Given the description of an element on the screen output the (x, y) to click on. 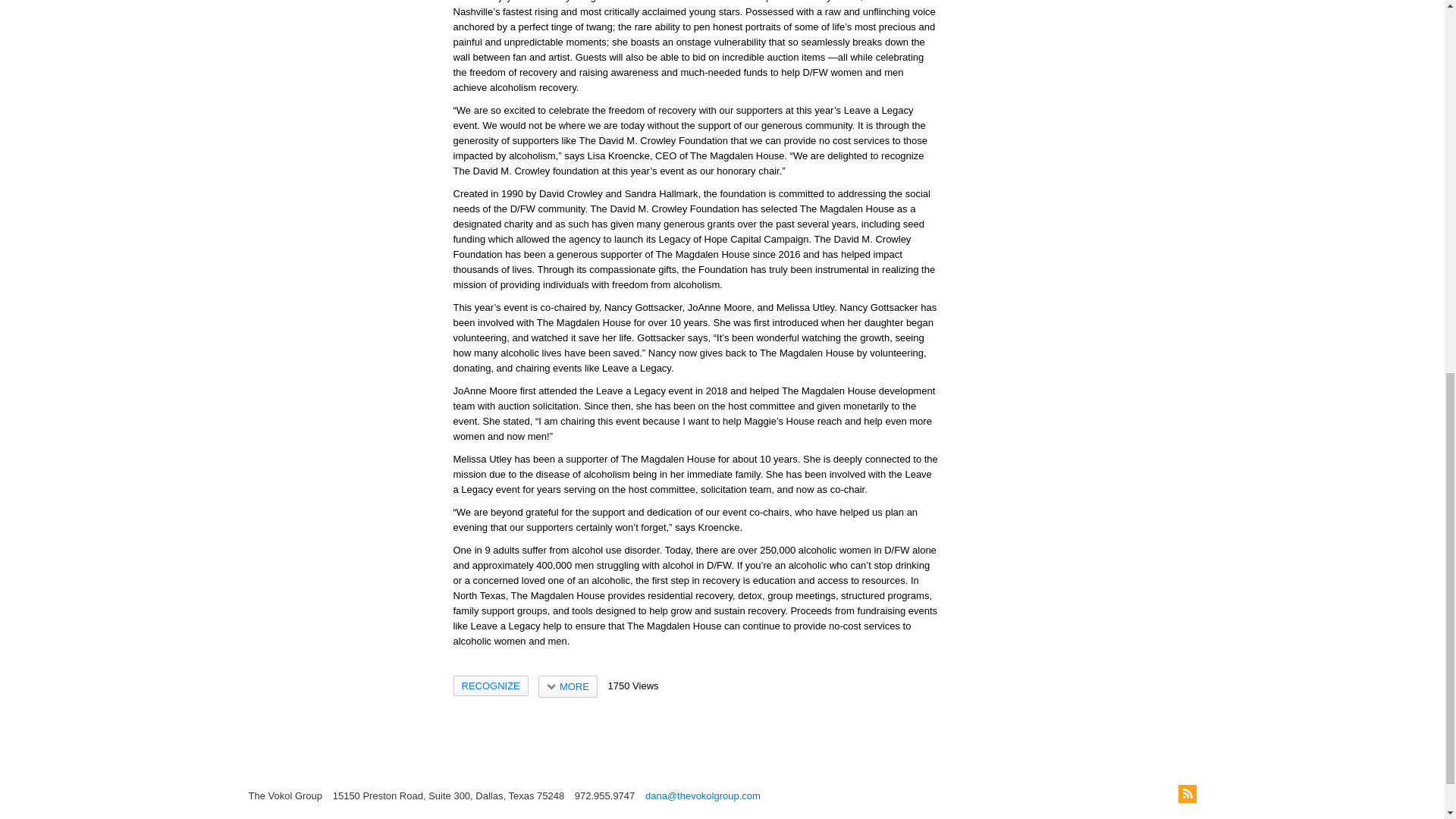
MORE (567, 686)
RECOGNIZE (490, 685)
